Given the description of an element on the screen output the (x, y) to click on. 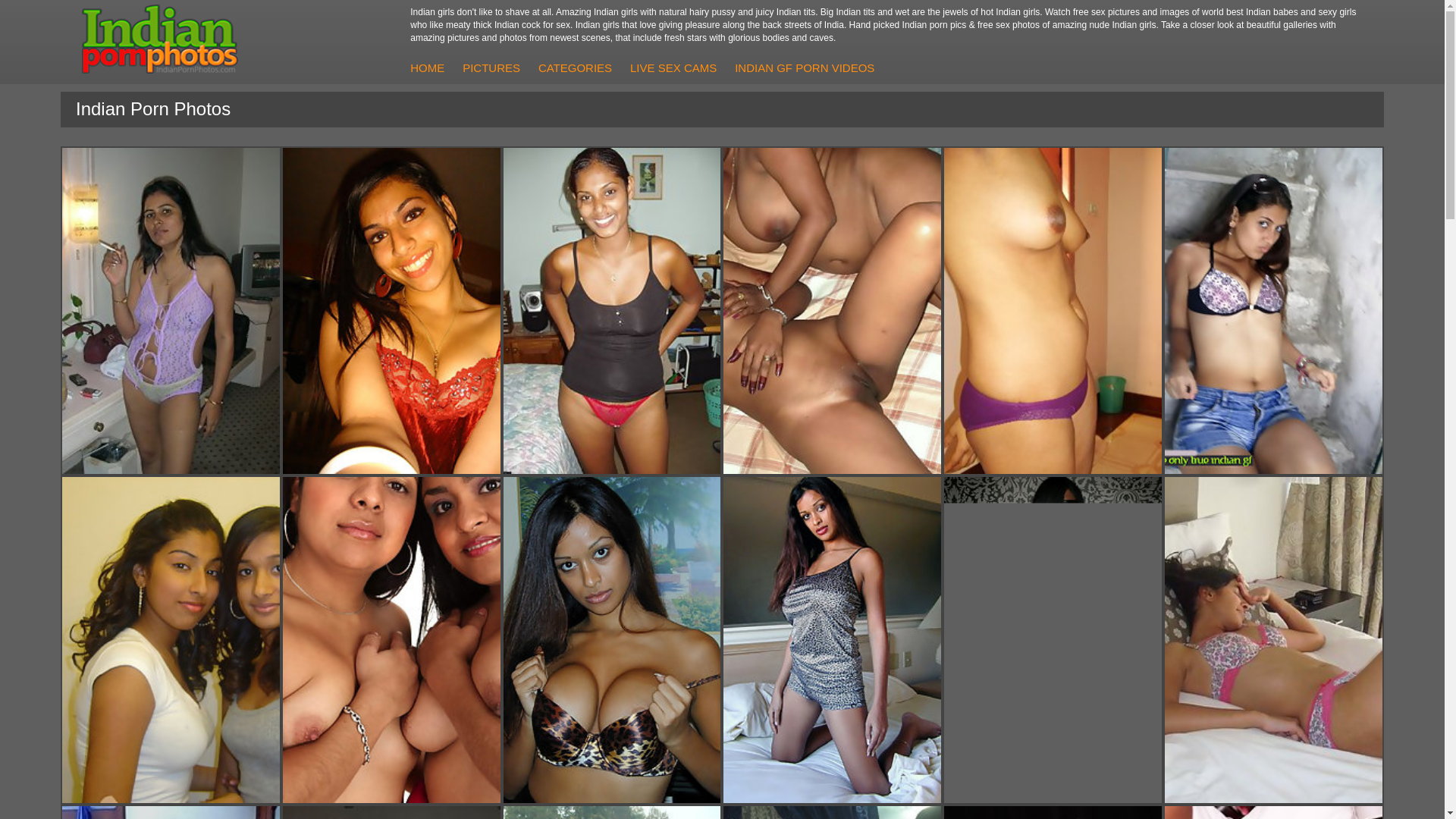
LIVE SEX CAMS (673, 67)
HOME (427, 67)
PICTURES (490, 67)
INDIAN GF PORN VIDEOS (804, 67)
CATEGORIES (575, 67)
